Given the description of an element on the screen output the (x, y) to click on. 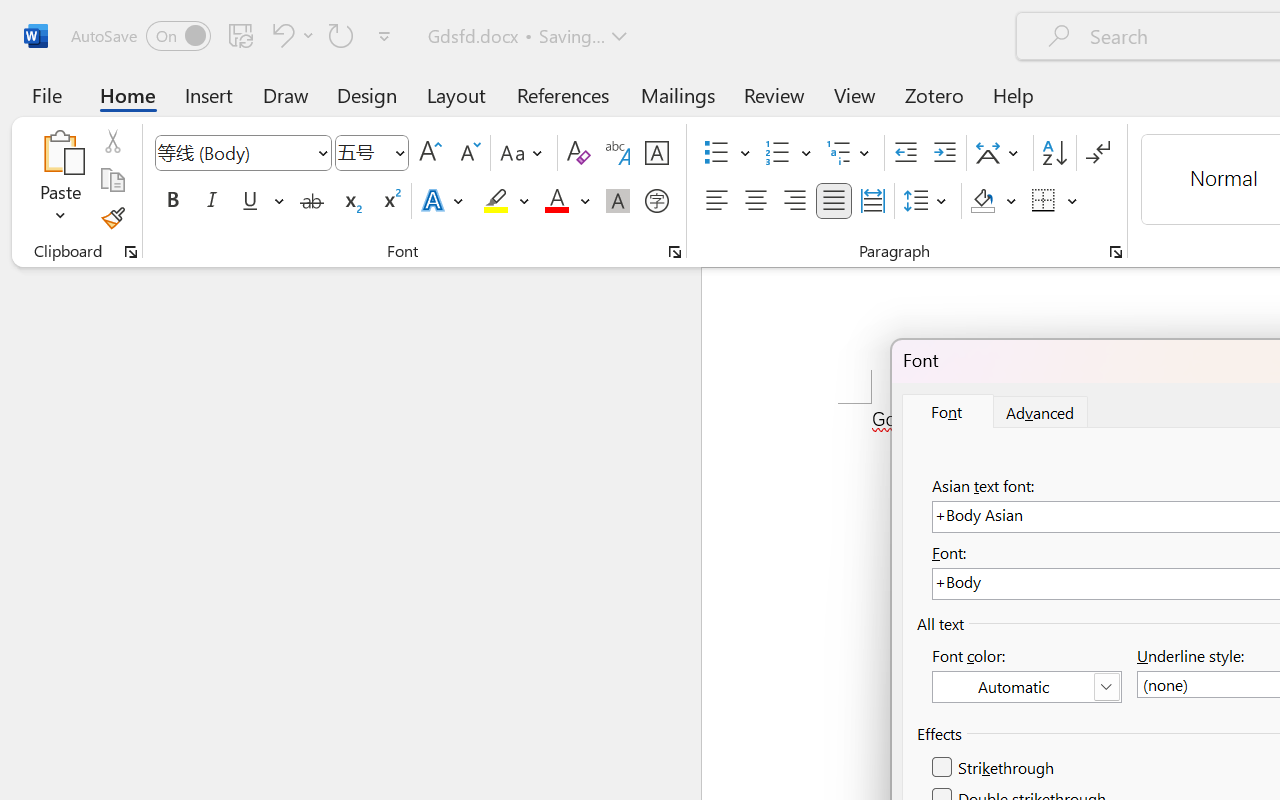
Increase Indent (944, 153)
Line and Paragraph Spacing (927, 201)
Clear Formatting (578, 153)
Font Color (Automatic) (1026, 687)
Character Shading (618, 201)
Shrink Font (468, 153)
Multilevel List (850, 153)
Format Painter (112, 218)
Font... (675, 252)
